Given the description of an element on the screen output the (x, y) to click on. 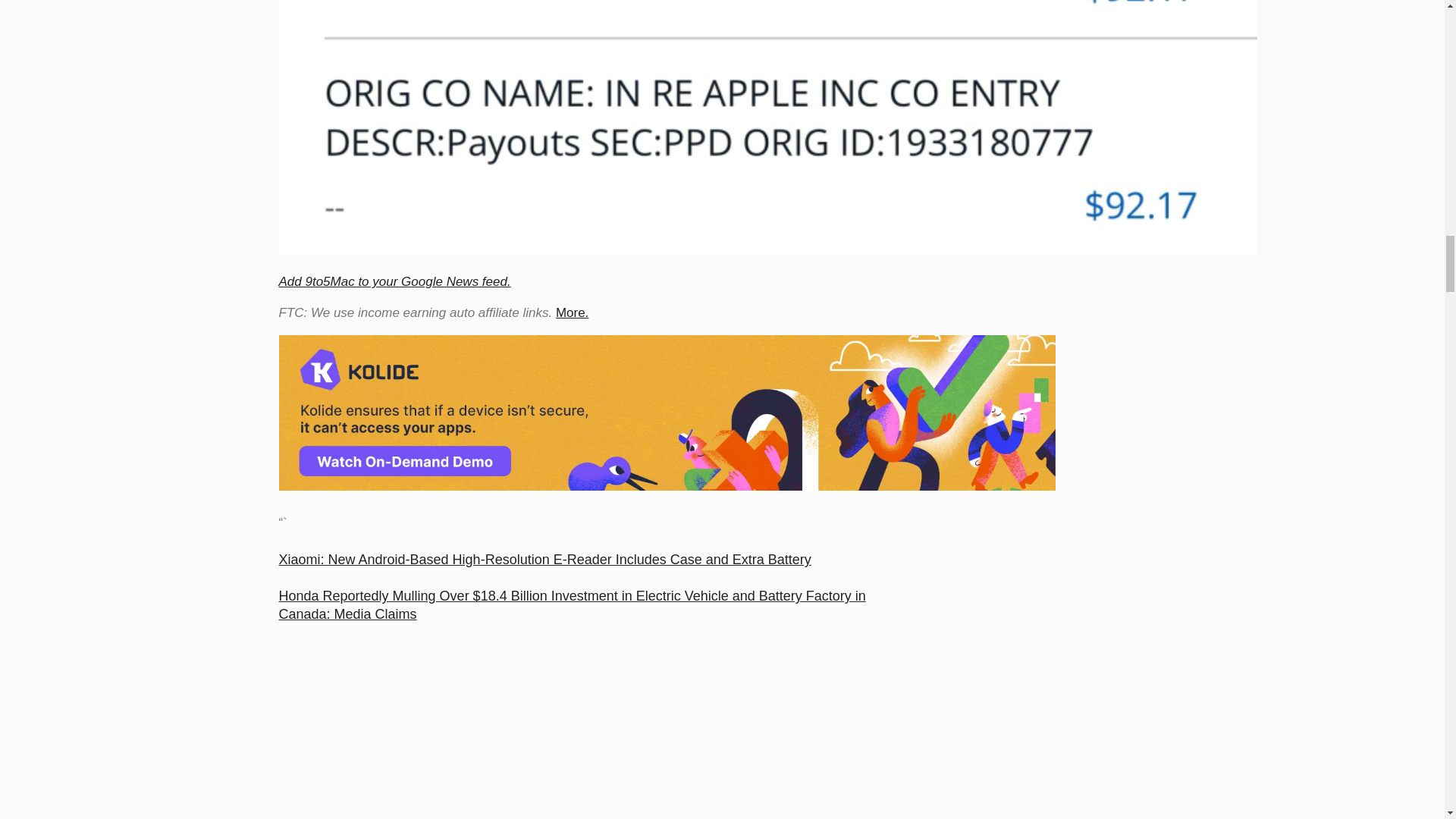
More. (572, 312)
Add 9to5Mac to your Google News feed. (395, 281)
